Given the description of an element on the screen output the (x, y) to click on. 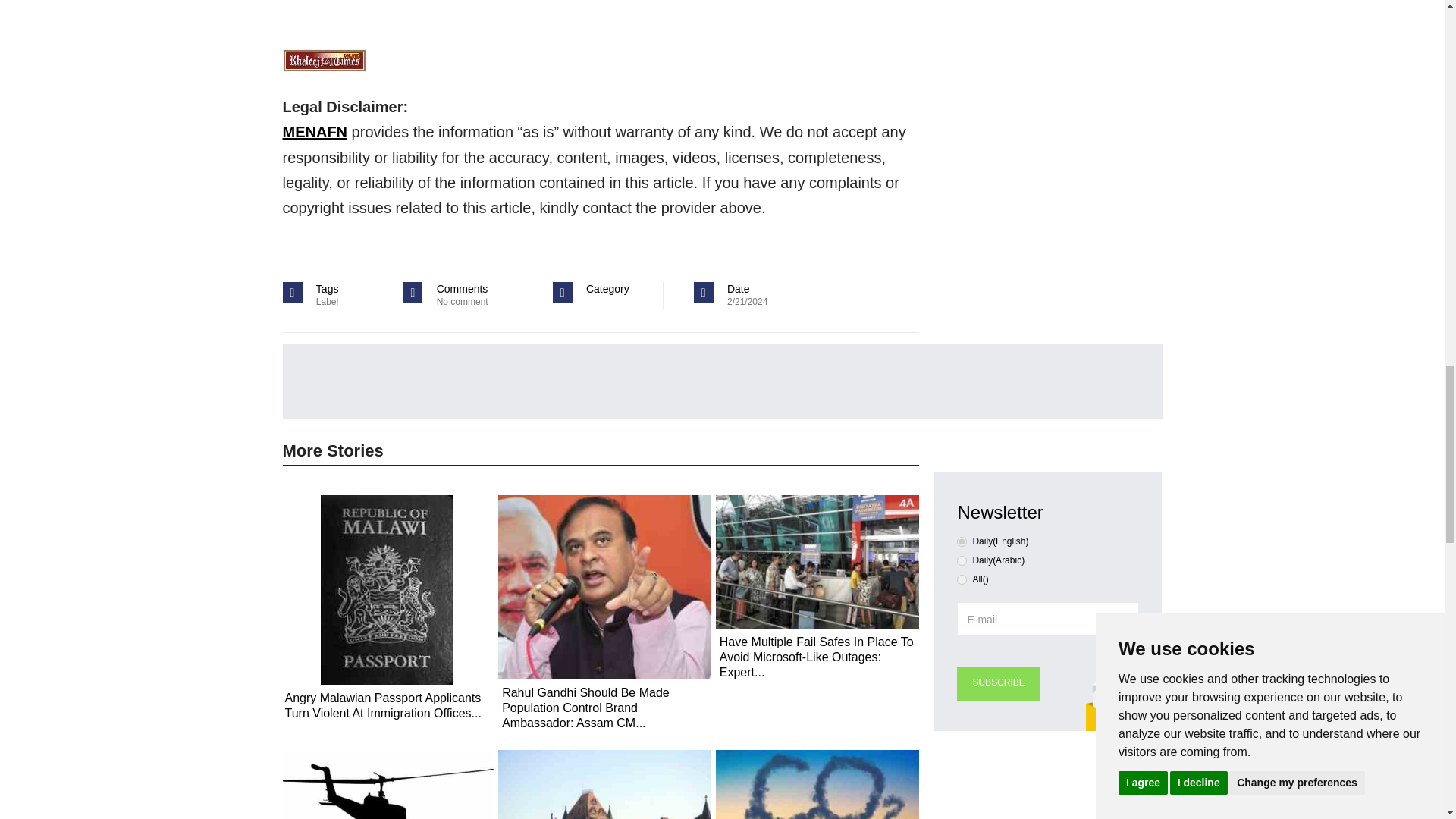
2 (961, 579)
1 (961, 560)
0 (961, 542)
Subscribe (997, 683)
